Given the description of an element on the screen output the (x, y) to click on. 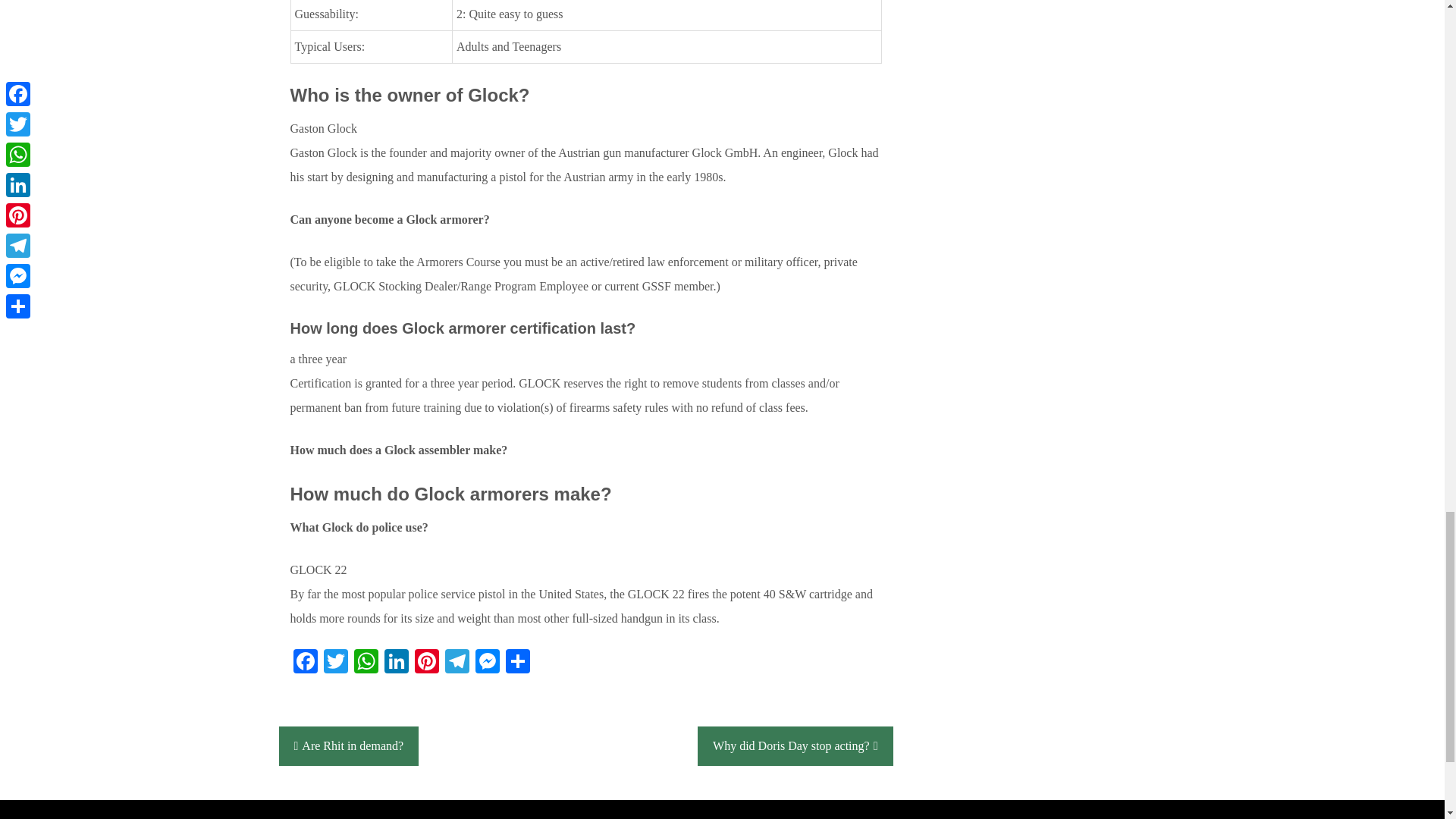
Facebook (304, 663)
LinkedIn (395, 663)
WhatsApp (365, 663)
Telegram (456, 663)
Twitter (335, 663)
Messenger (486, 663)
Pinterest (425, 663)
LinkedIn (395, 663)
Twitter (335, 663)
Facebook (304, 663)
